Given the description of an element on the screen output the (x, y) to click on. 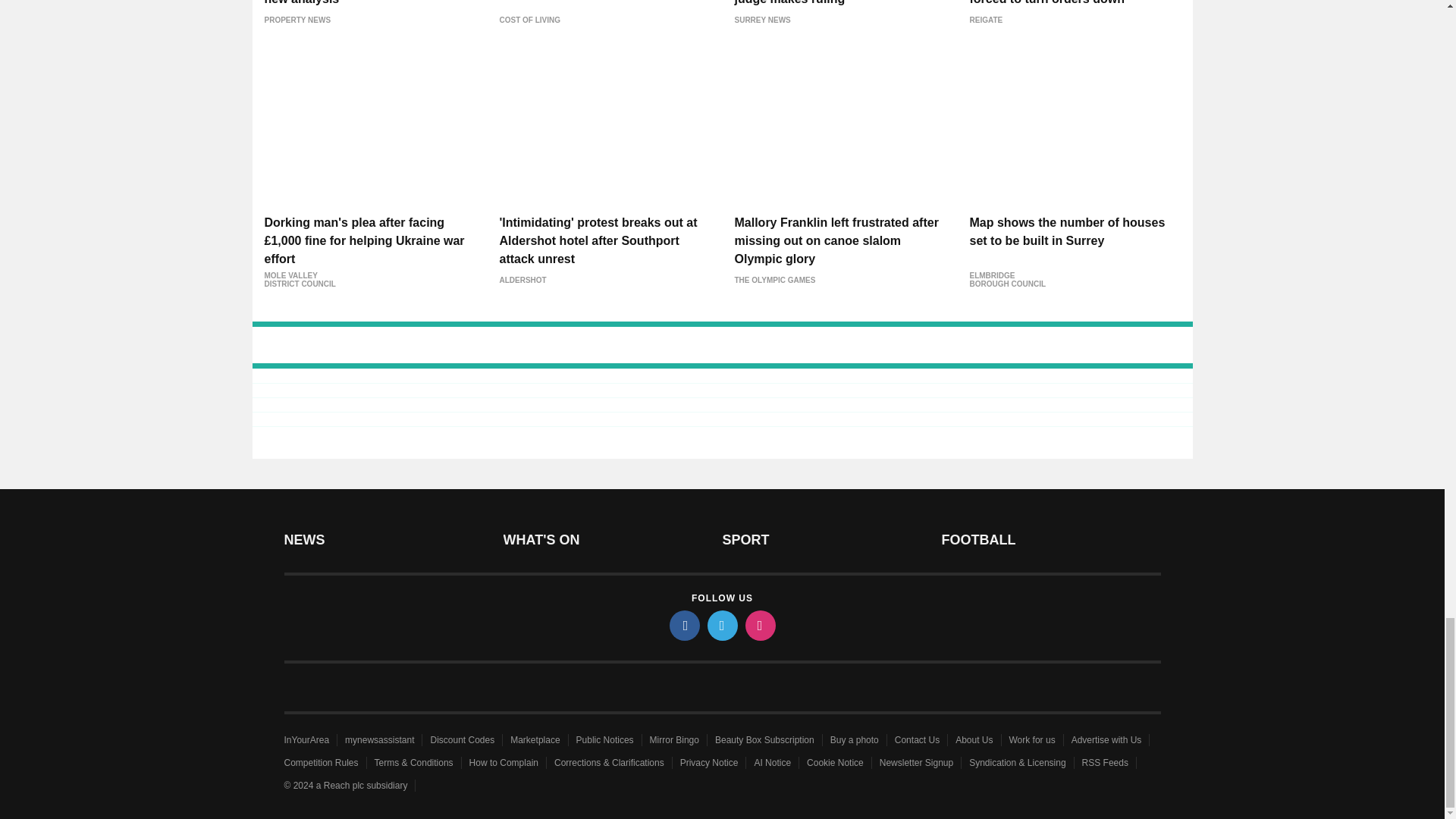
facebook (683, 625)
twitter (721, 625)
instagram (759, 625)
